Given the description of an element on the screen output the (x, y) to click on. 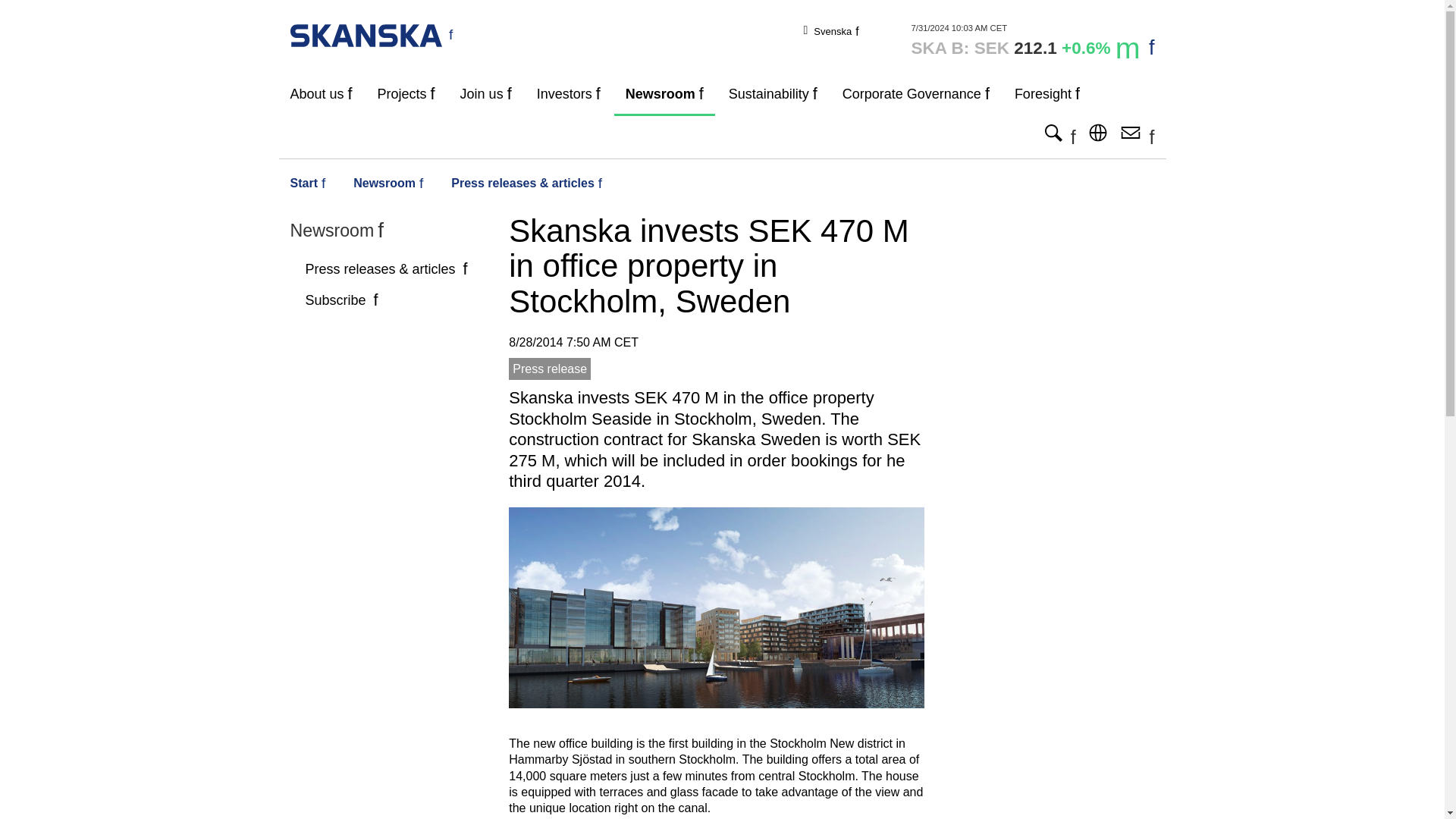
Compare (1032, 40)
About us (321, 93)
Join us (485, 93)
Projects (406, 93)
Skanska (370, 33)
Svenska (836, 30)
